Given the description of an element on the screen output the (x, y) to click on. 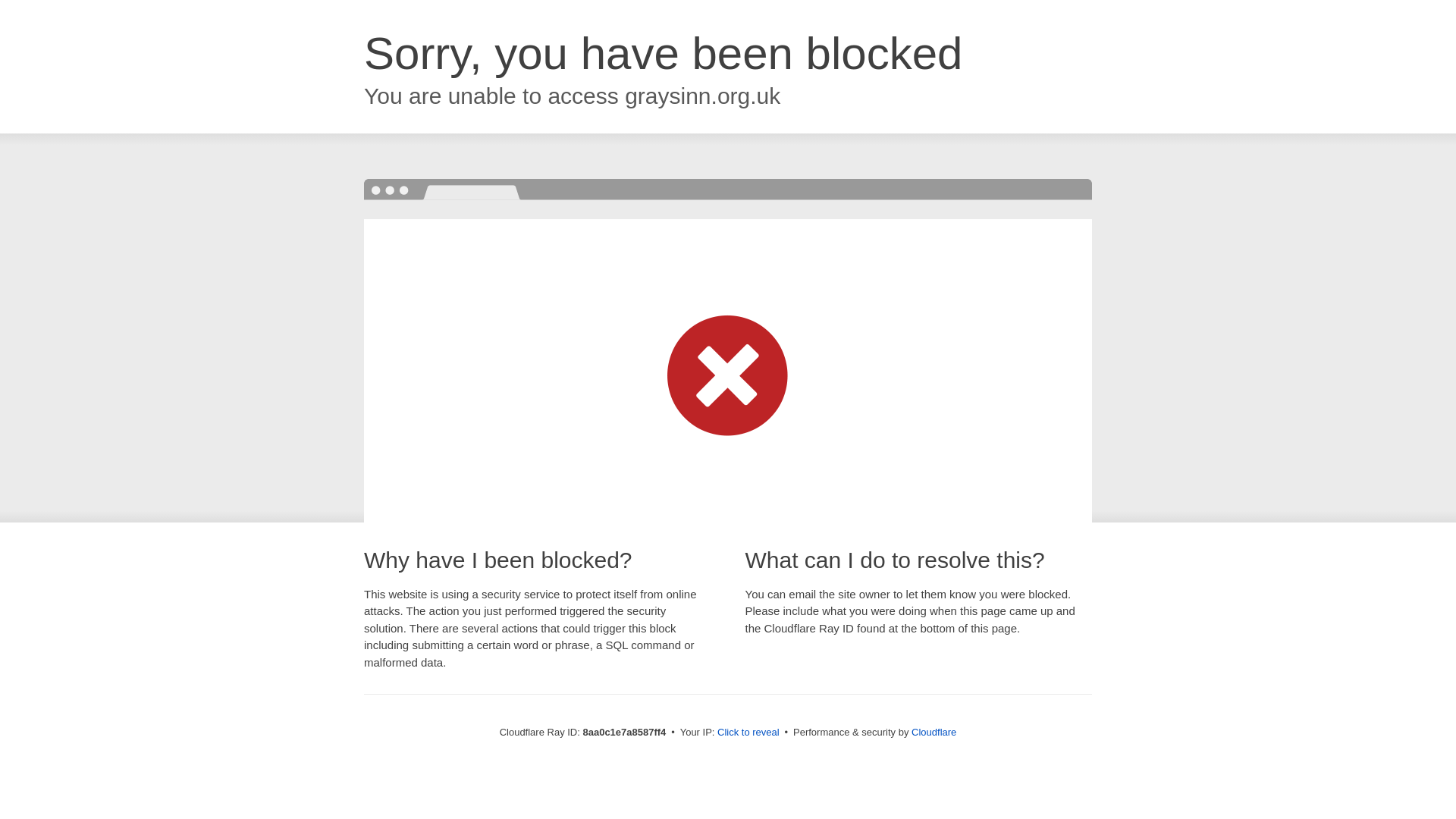
Cloudflare (933, 731)
Click to reveal (747, 732)
